Given the description of an element on the screen output the (x, y) to click on. 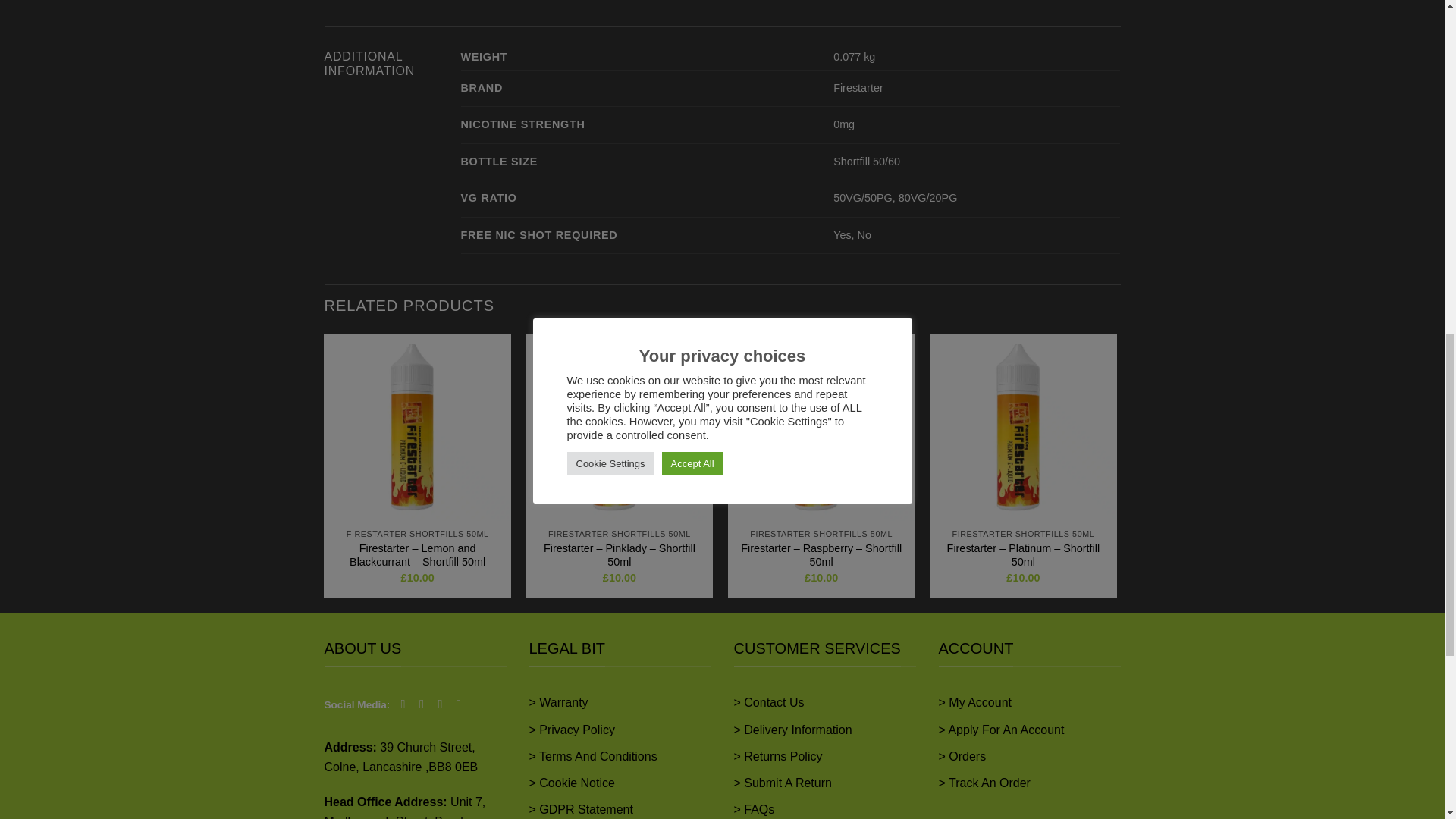
Follow on Facebook (406, 703)
